Given the description of an element on the screen output the (x, y) to click on. 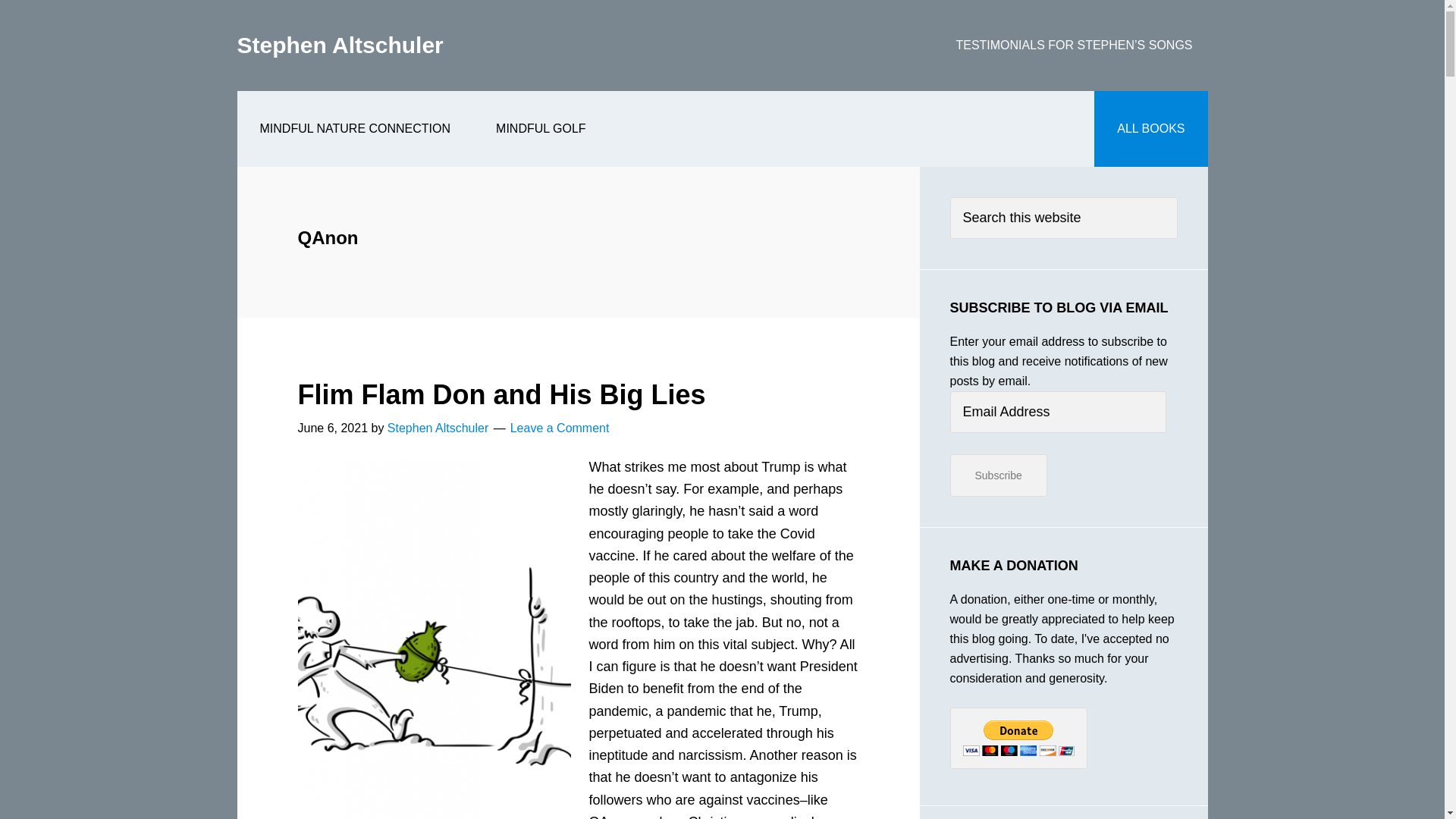
MINDFUL GOLF (540, 128)
Leave a Comment (560, 427)
Stephen Altschuler (338, 44)
Flim Flam Don and His Big Lies (500, 394)
PayPal - The safer, easier way to pay online! (1017, 738)
MINDFUL NATURE CONNECTION (354, 128)
ALL BOOKS (1150, 128)
